Given the description of an element on the screen output the (x, y) to click on. 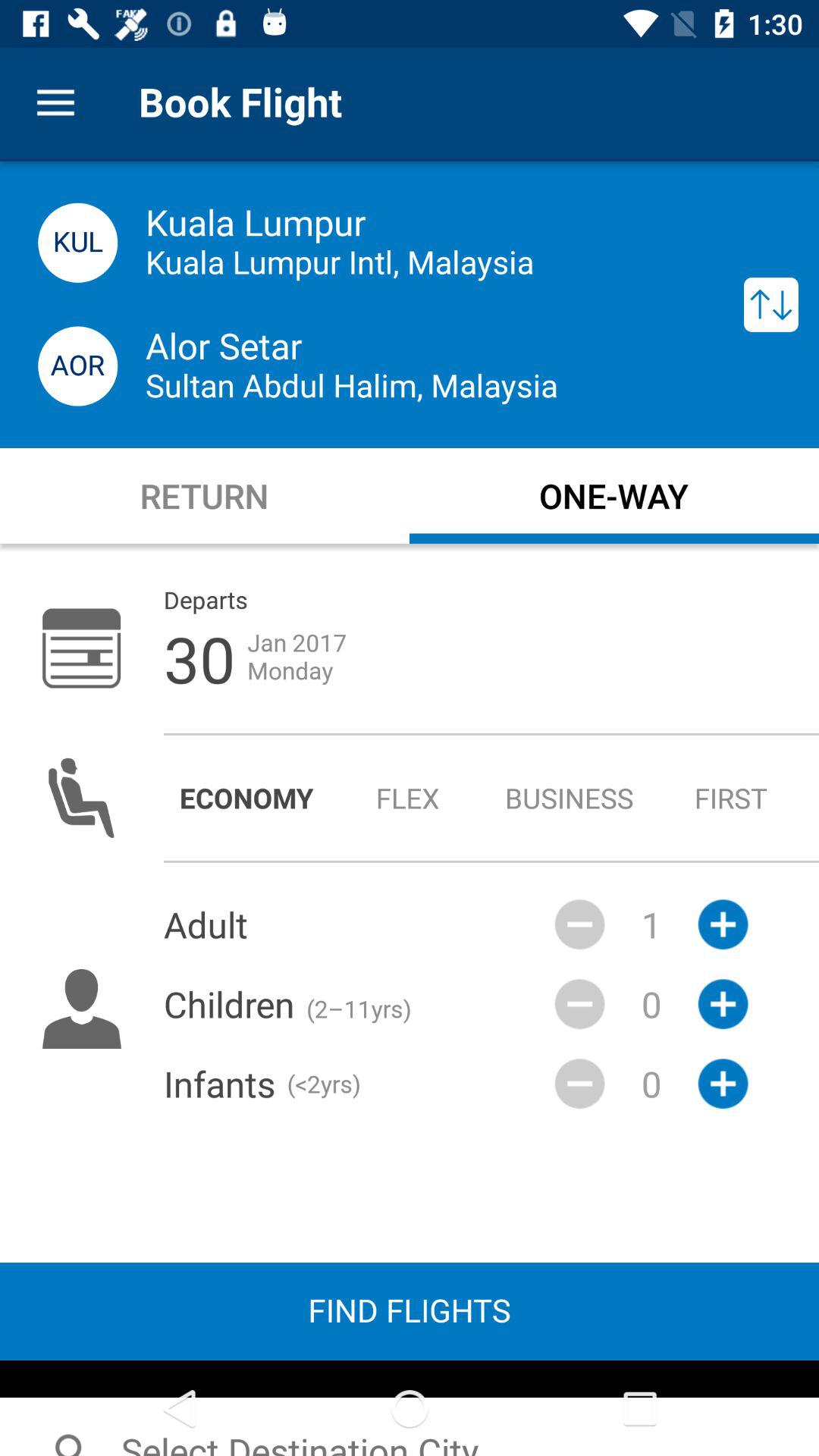
turn off icon to the left of flex (246, 797)
